Given the description of an element on the screen output the (x, y) to click on. 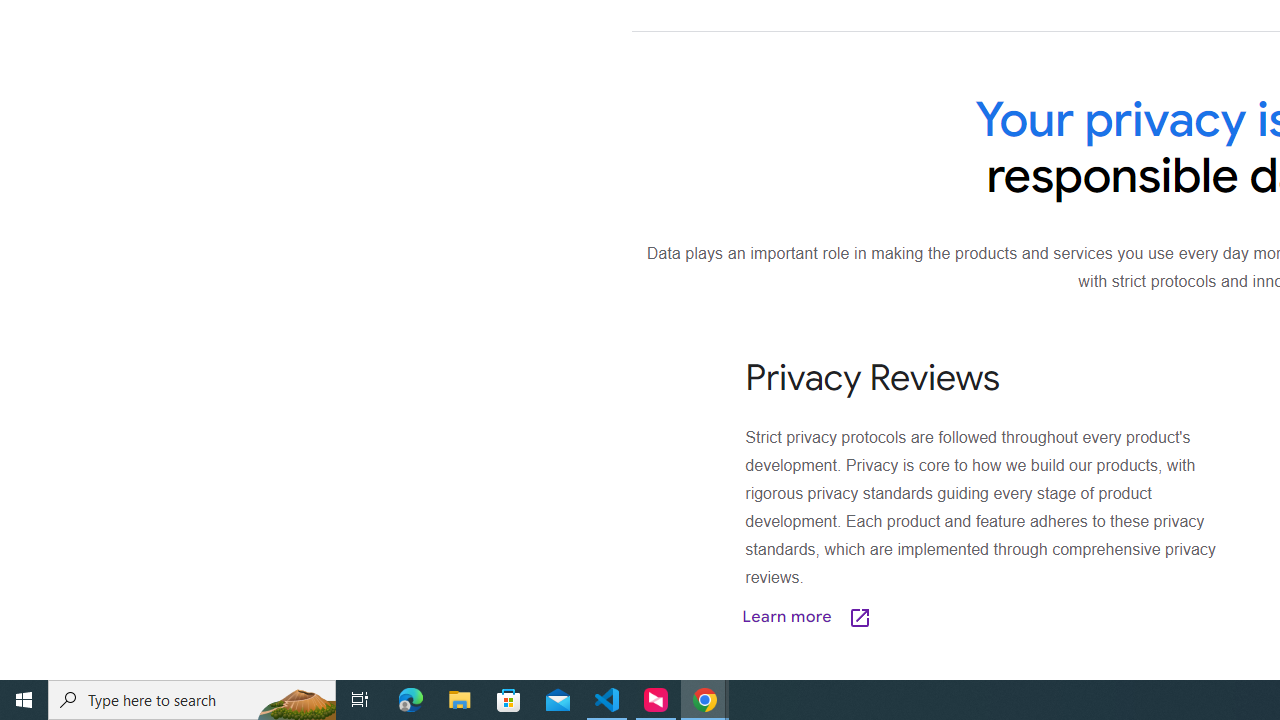
Learn more  (907, 616)
